Given the description of an element on the screen output the (x, y) to click on. 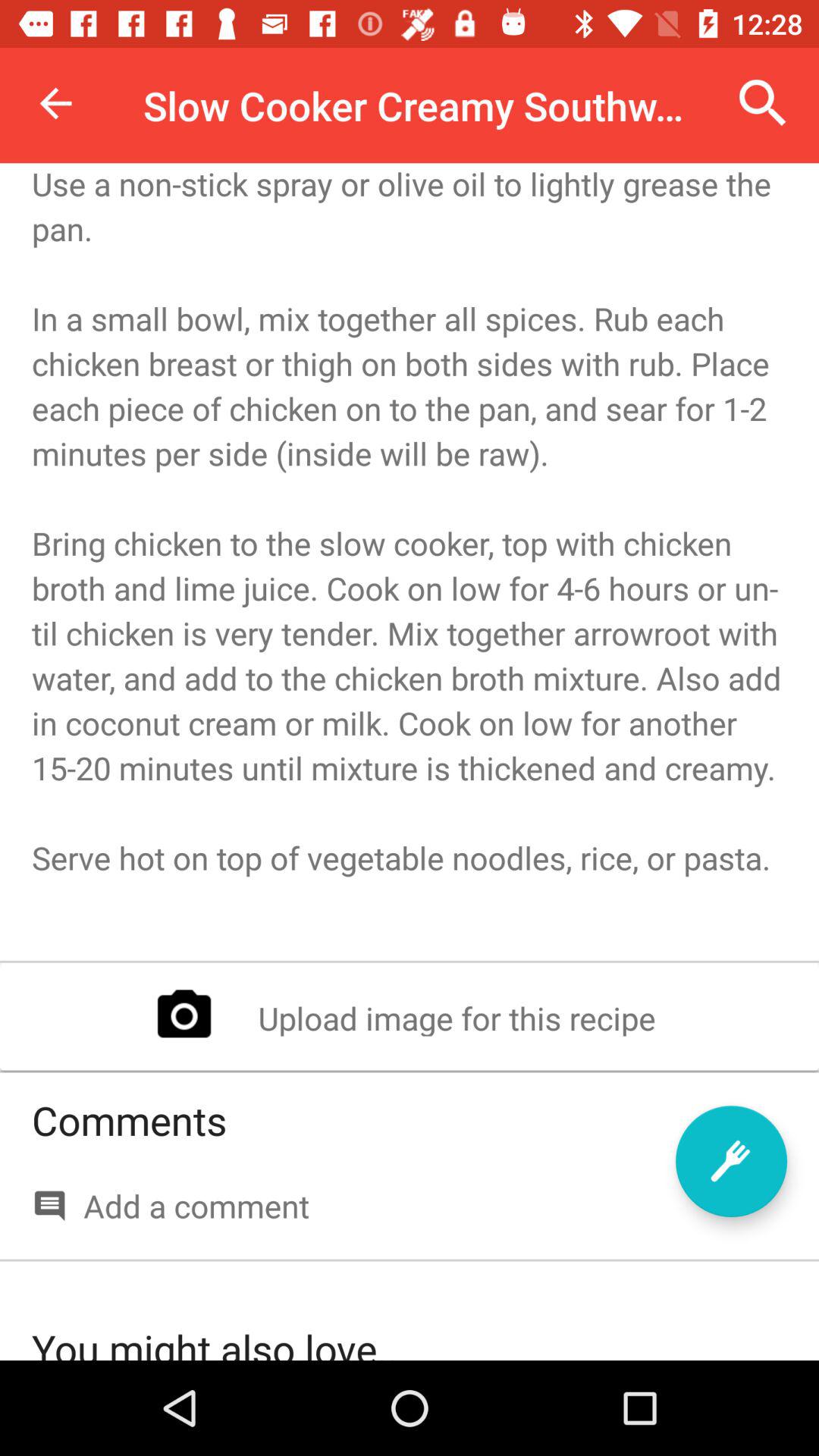
launch the icon above the begin by heating item (55, 103)
